Given the description of an element on the screen output the (x, y) to click on. 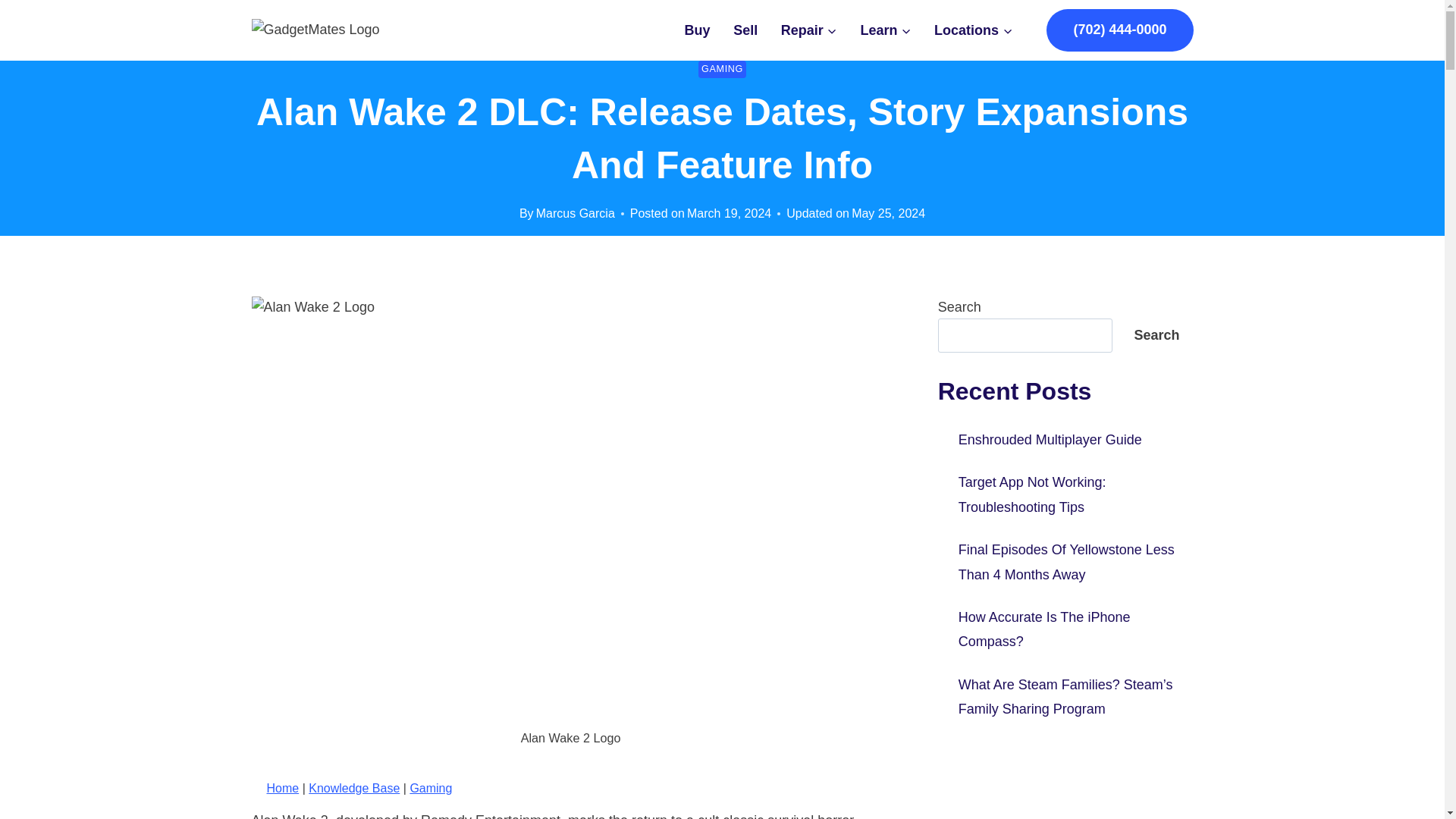
Repair (809, 30)
Gaming (430, 788)
GAMING (721, 68)
Marcus Garcia (574, 213)
Buy (697, 30)
Locations (974, 30)
Knowledge Base (353, 788)
Sell (746, 30)
Home (282, 788)
Learn (885, 30)
